Given the description of an element on the screen output the (x, y) to click on. 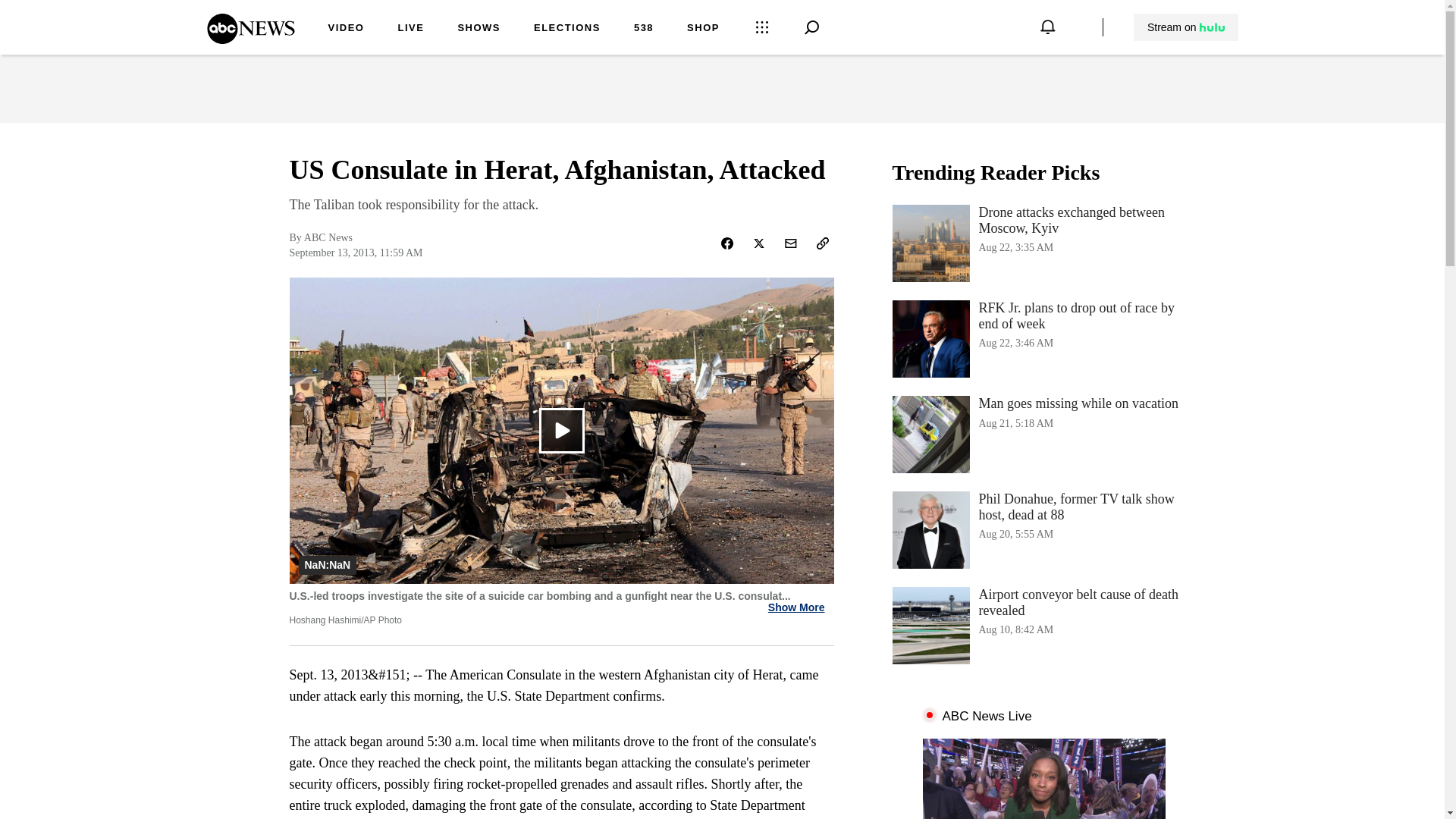
538 (1043, 434)
SHOWS (643, 28)
VIDEO (478, 28)
Show More (345, 28)
Stream on (796, 607)
LIVE (1186, 26)
